Given the description of an element on the screen output the (x, y) to click on. 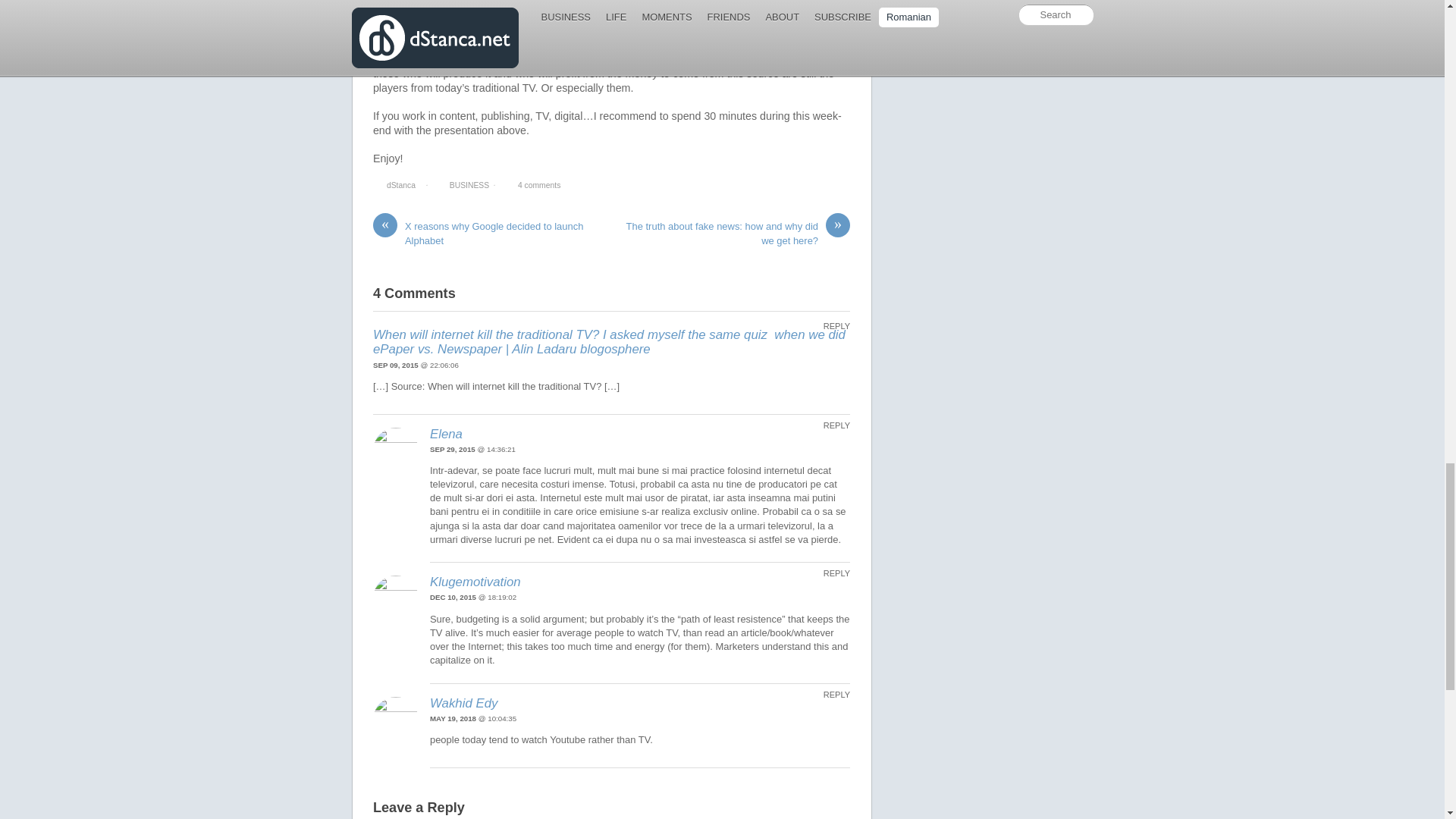
4 comments (539, 184)
REPLY (829, 425)
dStanca (400, 184)
REPLY (829, 573)
BUSINESS (469, 184)
REPLY (829, 326)
REPLY (829, 695)
Elena (446, 433)
Wakhid Edy (463, 703)
Klugemotivation (475, 581)
